Given the description of an element on the screen output the (x, y) to click on. 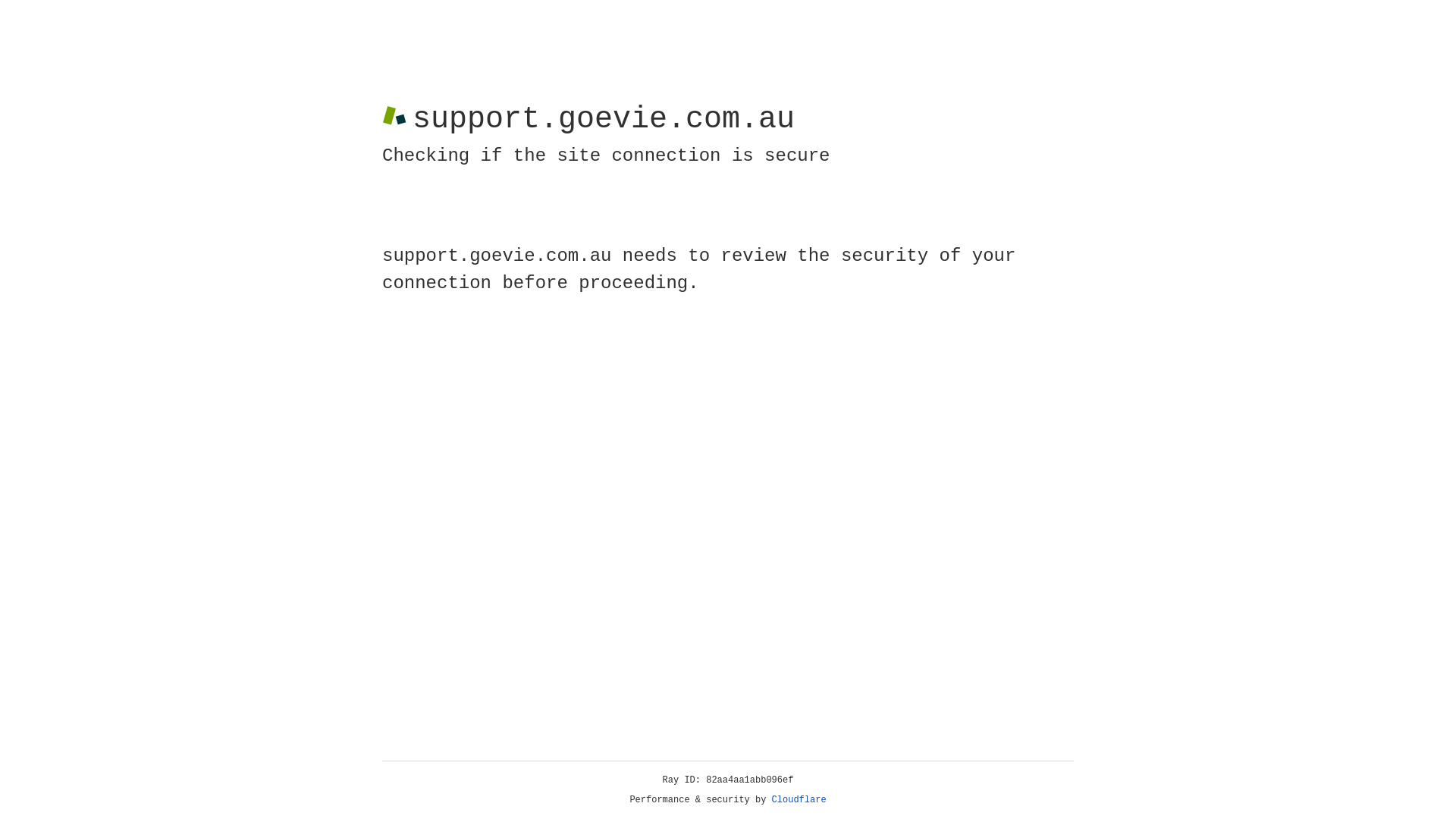
Cloudflare Element type: text (798, 799)
